Given the description of an element on the screen output the (x, y) to click on. 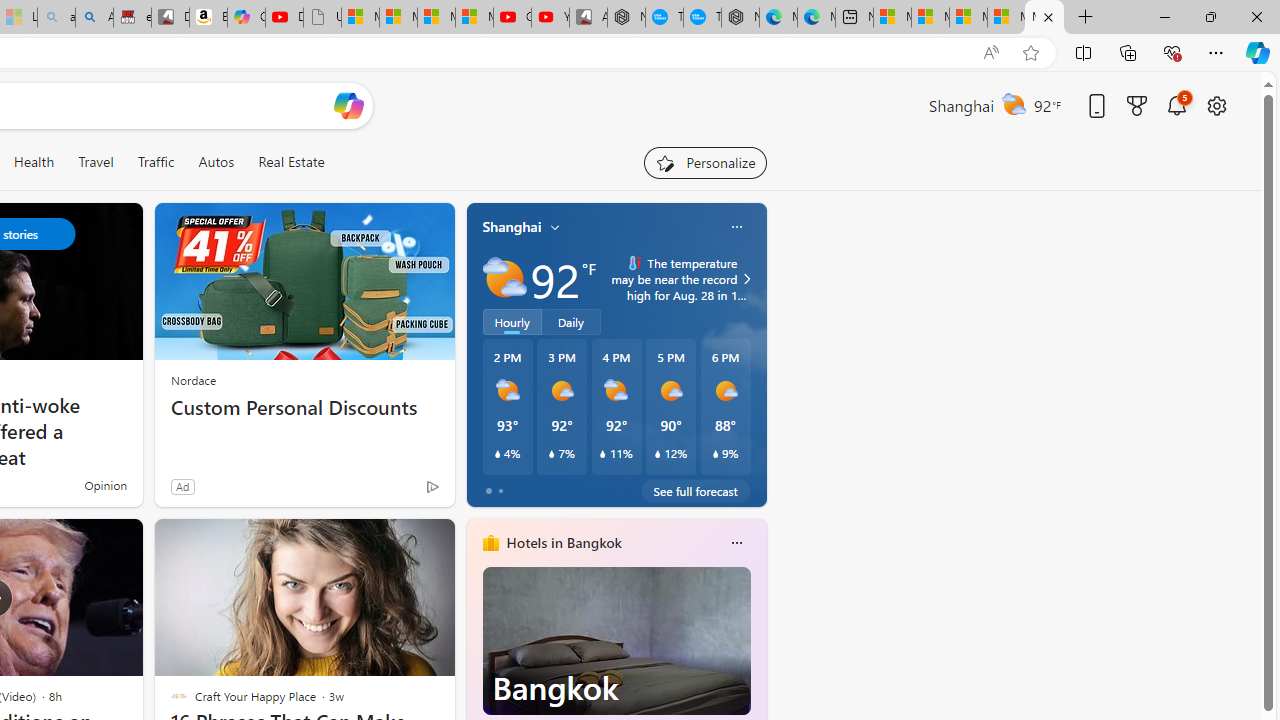
Traffic (155, 162)
Microsoft account | Privacy (1006, 17)
Health (34, 161)
Partly sunny (504, 278)
Class: icon-img (736, 542)
Hotels in Bangkok (563, 543)
Real Estate (290, 162)
Shanghai (511, 227)
